Given the description of an element on the screen output the (x, y) to click on. 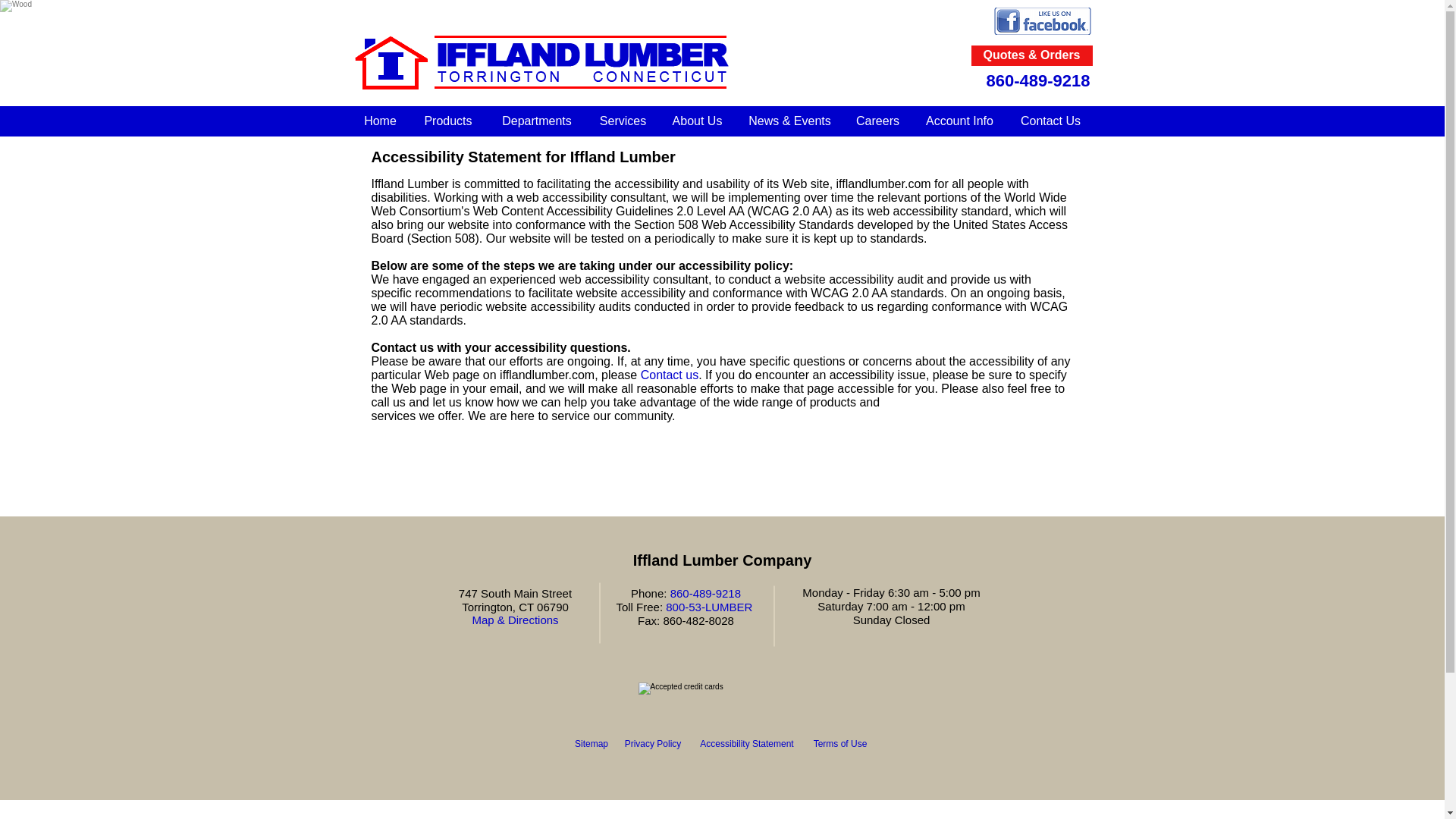
Contact Us (1050, 121)
Privacy Policy (652, 743)
Image of Iffland Lumber Company logo (541, 61)
Account Info (959, 121)
Careers (877, 121)
Contact us (669, 374)
Sitemap (591, 743)
Home (379, 121)
860-489-9218 (1037, 80)
We accept all major credit cards (721, 693)
Accessibility Statement (746, 743)
800-53-LUMBER (708, 606)
860-489-9218 (705, 593)
About Us (696, 121)
Services (622, 121)
